Given the description of an element on the screen output the (x, y) to click on. 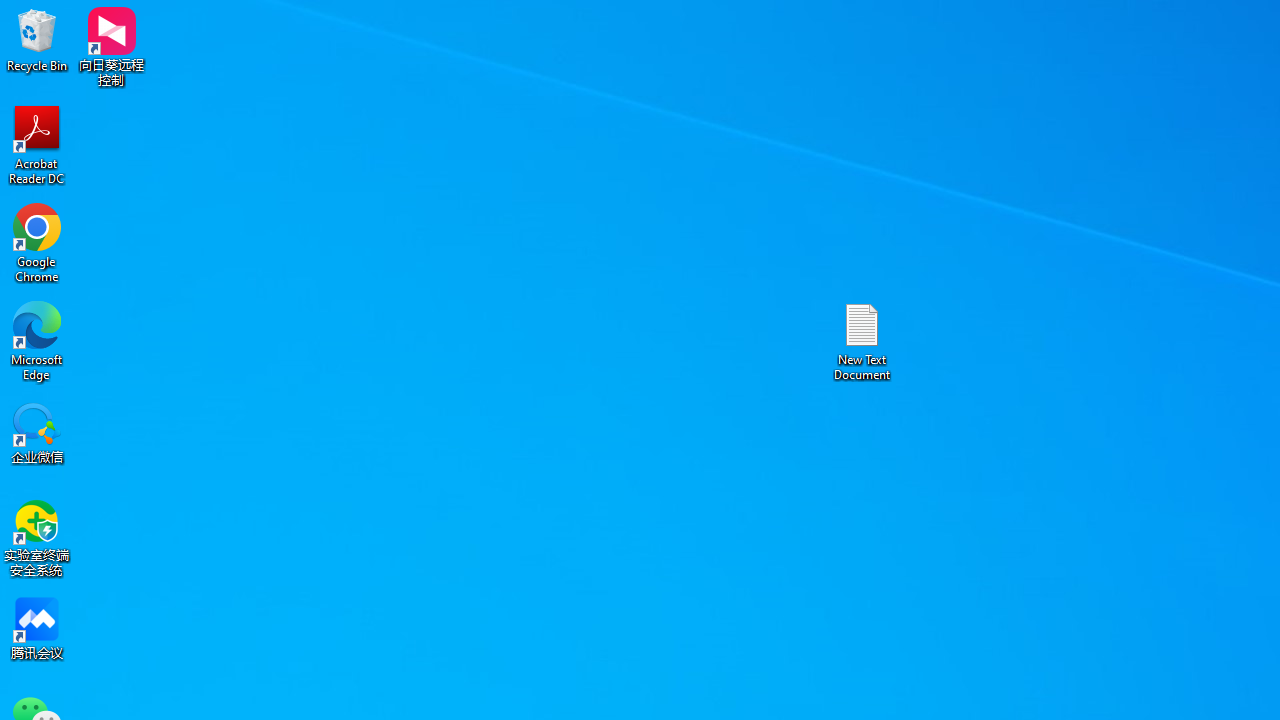
Heading 1 (991, 100)
